Given the description of an element on the screen output the (x, y) to click on. 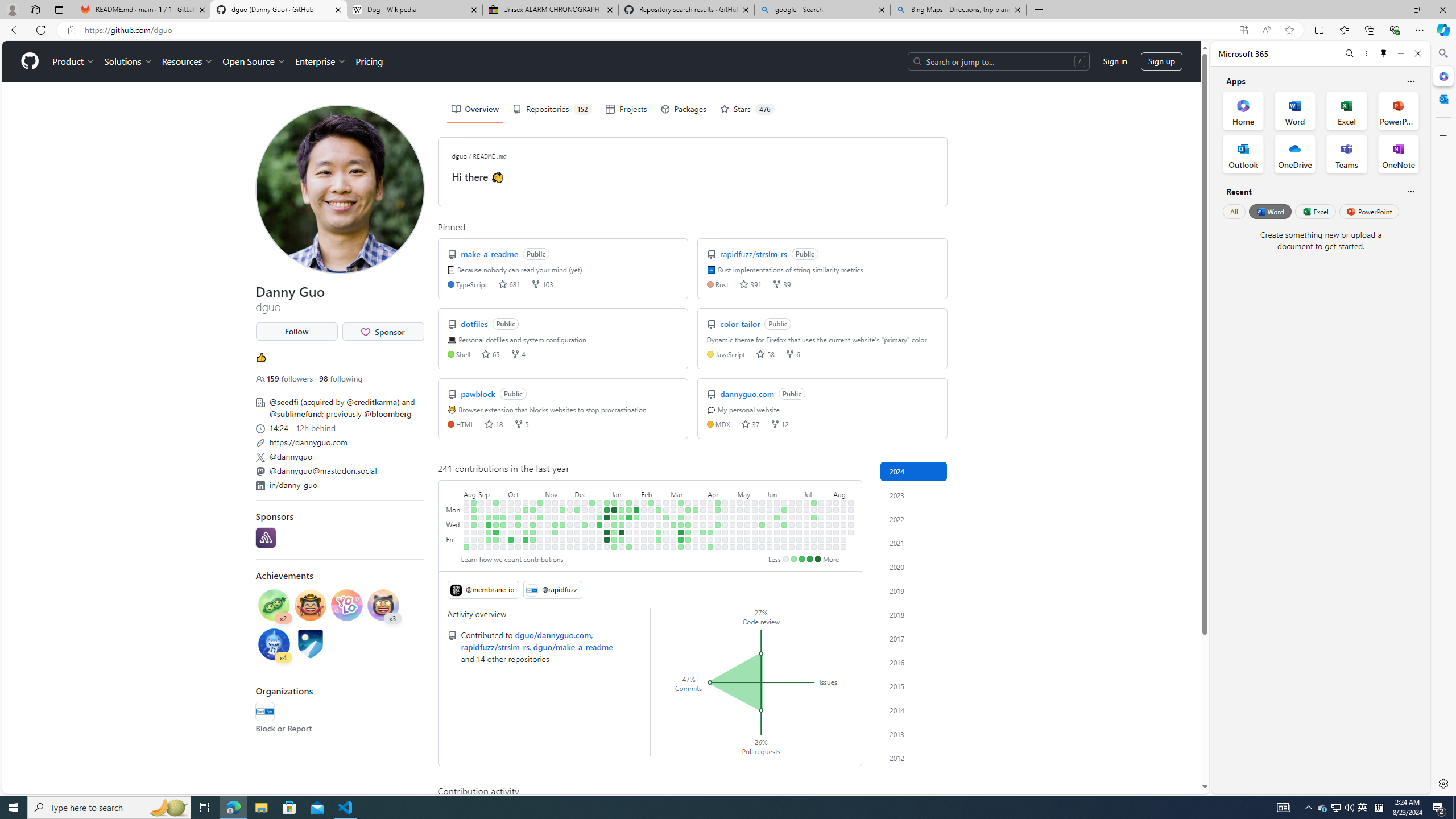
3 contributions on March 6th. (674, 524)
2 contributions on January 12th. (614, 539)
2 contributions on February 23rd. (658, 539)
No contributions on July 11th. (806, 531)
No contributions on November 26th. (569, 502)
2015 (913, 686)
No contributions on April 16th. (717, 517)
No contributions on April 29th. (732, 509)
No contributions on July 18th. (813, 531)
No contributions on April 5th. (703, 539)
No contributions on August 8th. (836, 531)
No contributions on August 23rd. (466, 524)
